Given the description of an element on the screen output the (x, y) to click on. 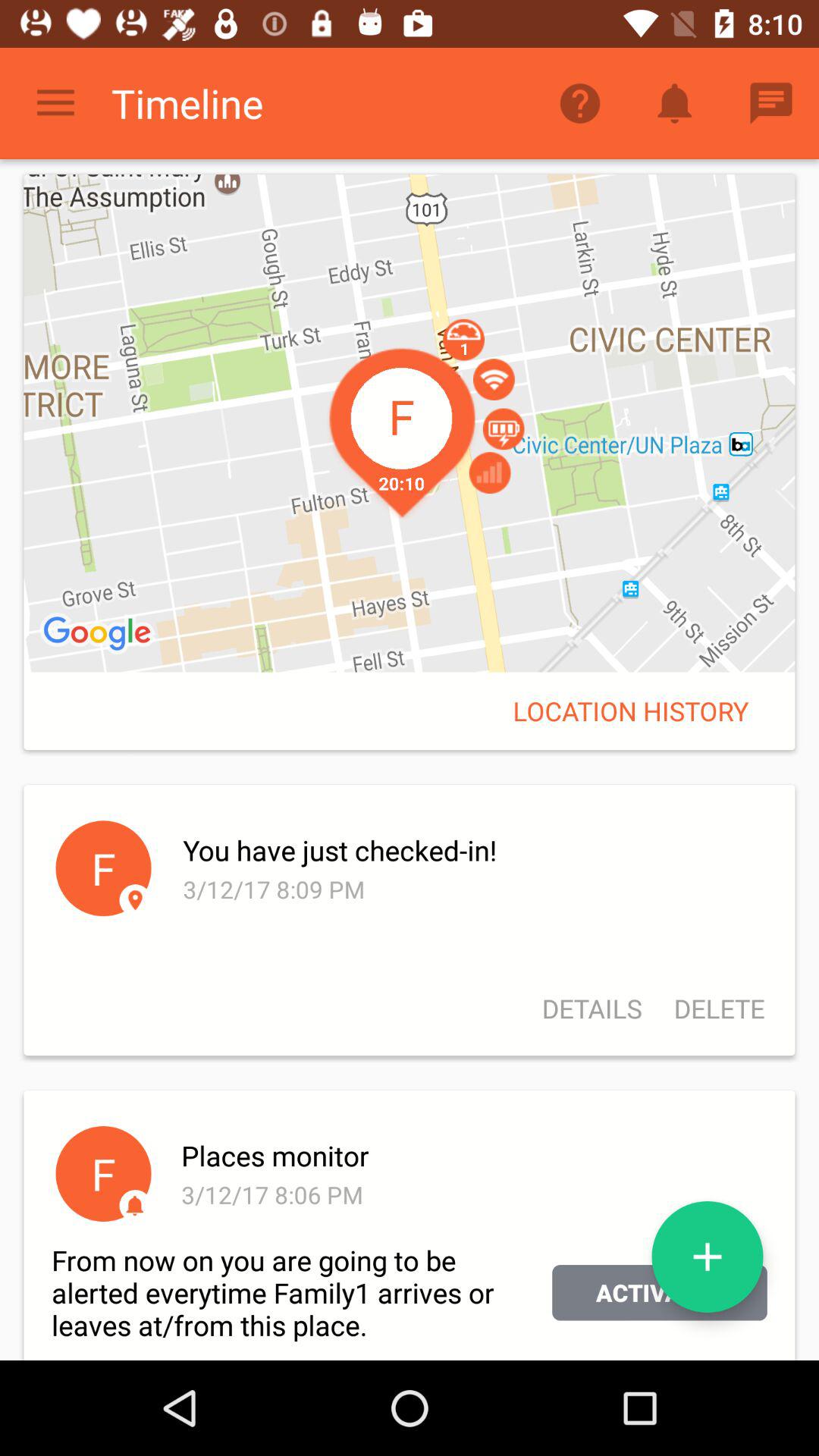
choose icon below the details icon (472, 1155)
